Given the description of an element on the screen output the (x, y) to click on. 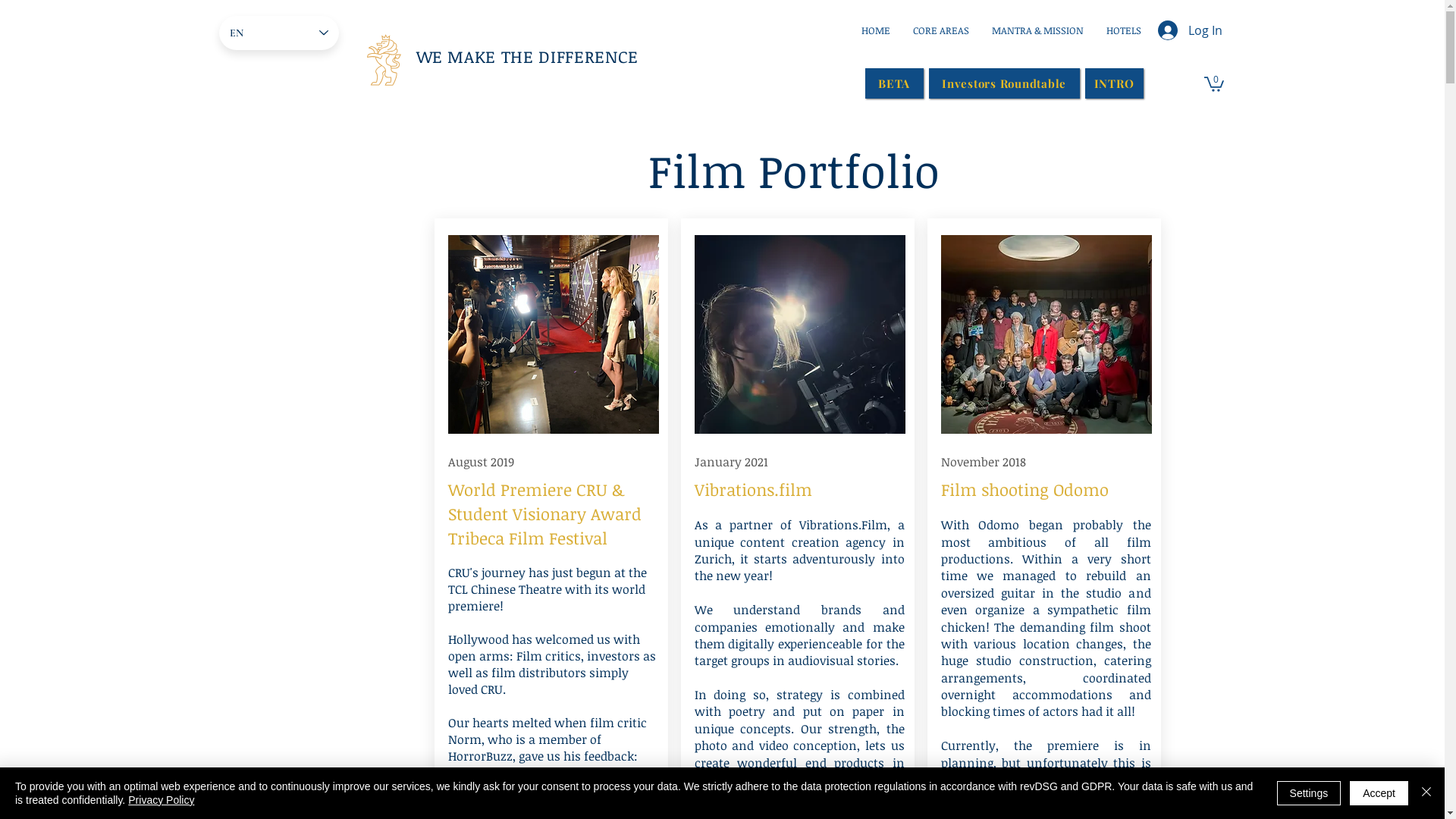
Log In Element type: text (1189, 29)
CORE AREAS Element type: text (939, 29)
BETA Element type: text (893, 83)
INTRO Element type: text (1113, 83)
Settings Element type: text (1309, 793)
0 Element type: text (1213, 83)
Accept Element type: text (1378, 793)
MANTRA & MISSION Element type: text (1036, 29)
HOTELS Element type: text (1123, 29)
Investors Roundtable Element type: text (1003, 83)
Privacy Policy Element type: text (161, 799)
WE MAKE THE DIFFERENCE Element type: text (526, 55)
HOME Element type: text (874, 29)
